Given the description of an element on the screen output the (x, y) to click on. 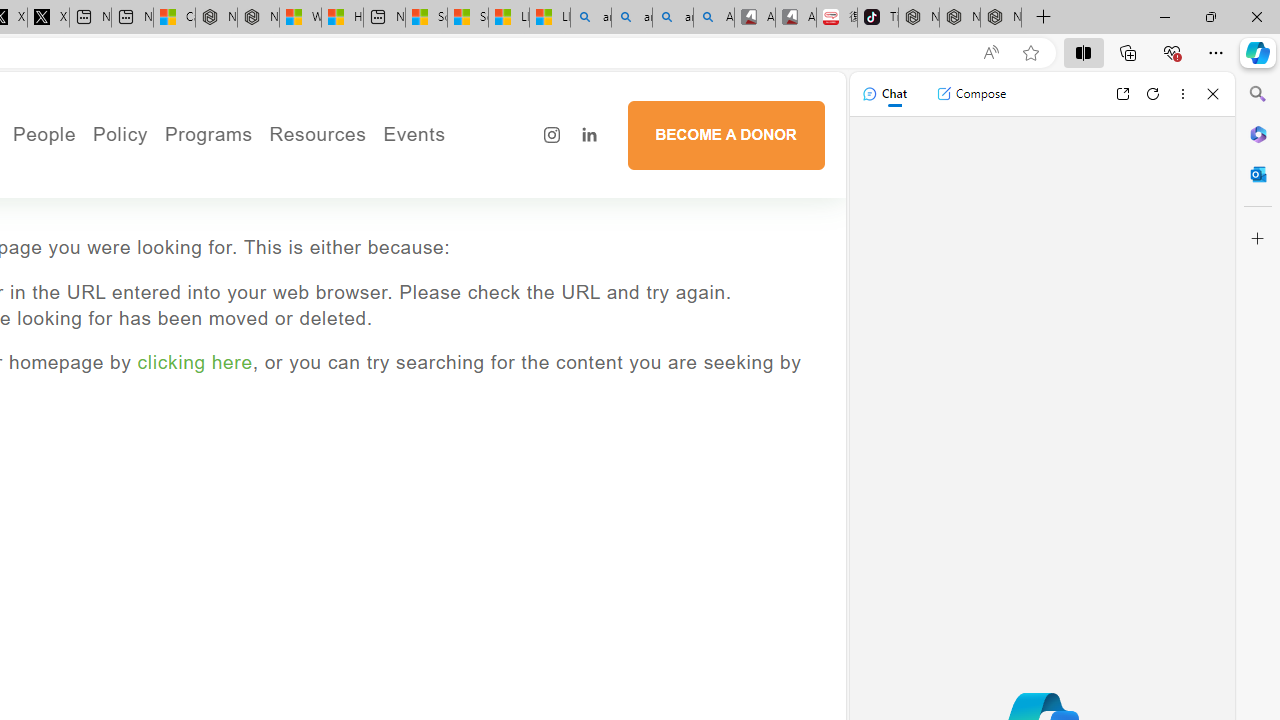
Copilot (Ctrl+Shift+.) (1258, 52)
Chat (884, 93)
New tab (383, 17)
amazon - Search Images (672, 17)
Read aloud this page (Ctrl+Shift+U) (991, 53)
Blog (111, 255)
More options (1182, 93)
Refresh (1153, 93)
Settings and more (Alt+F) (1215, 52)
Food Rescue Macro Grants (393, 228)
TikTok (877, 17)
Minimize (1164, 16)
SoCal Impact Food Fund (393, 200)
